Given the description of an element on the screen output the (x, y) to click on. 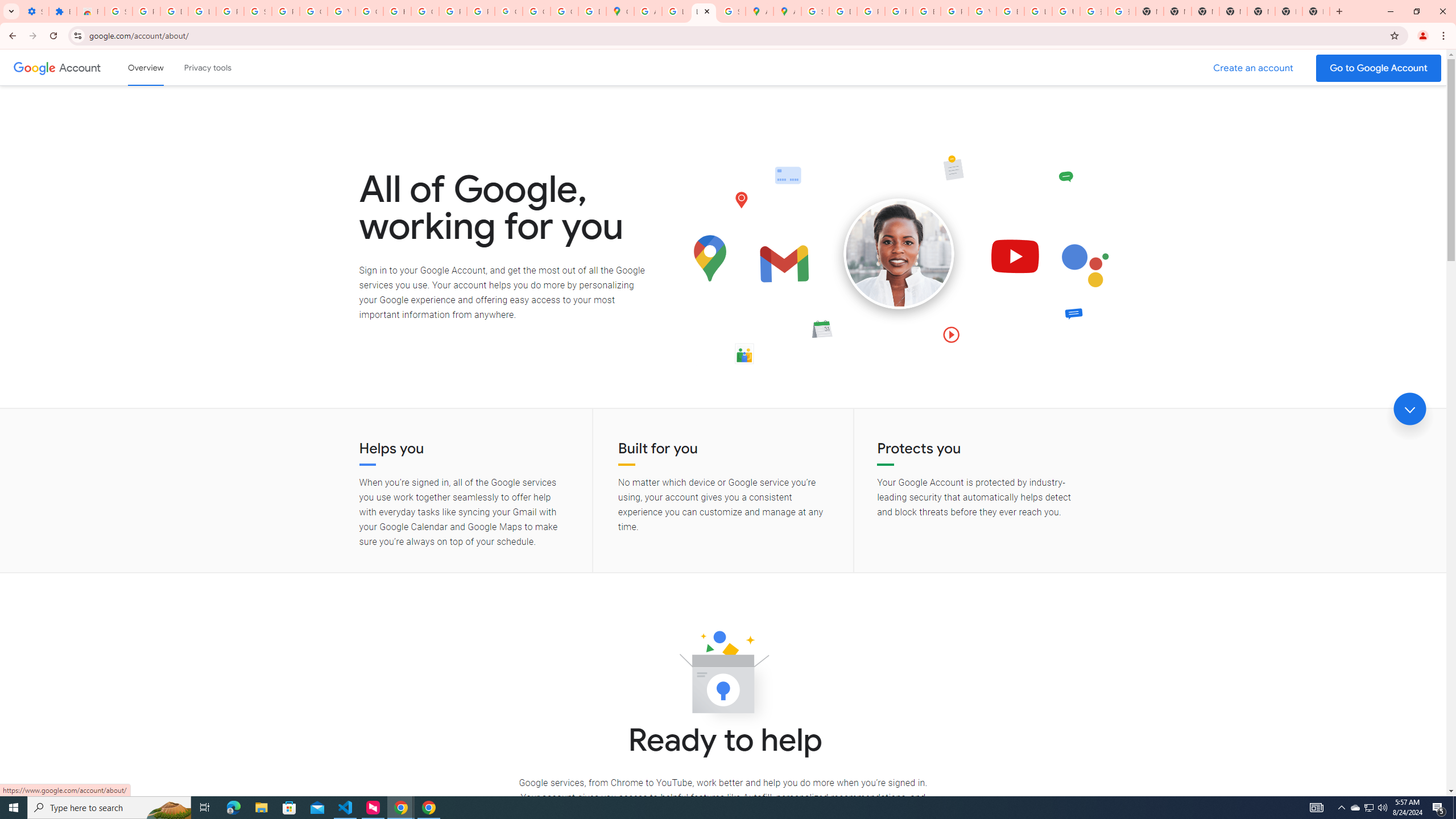
YouTube (341, 11)
Google Account (80, 67)
